Given the description of an element on the screen output the (x, y) to click on. 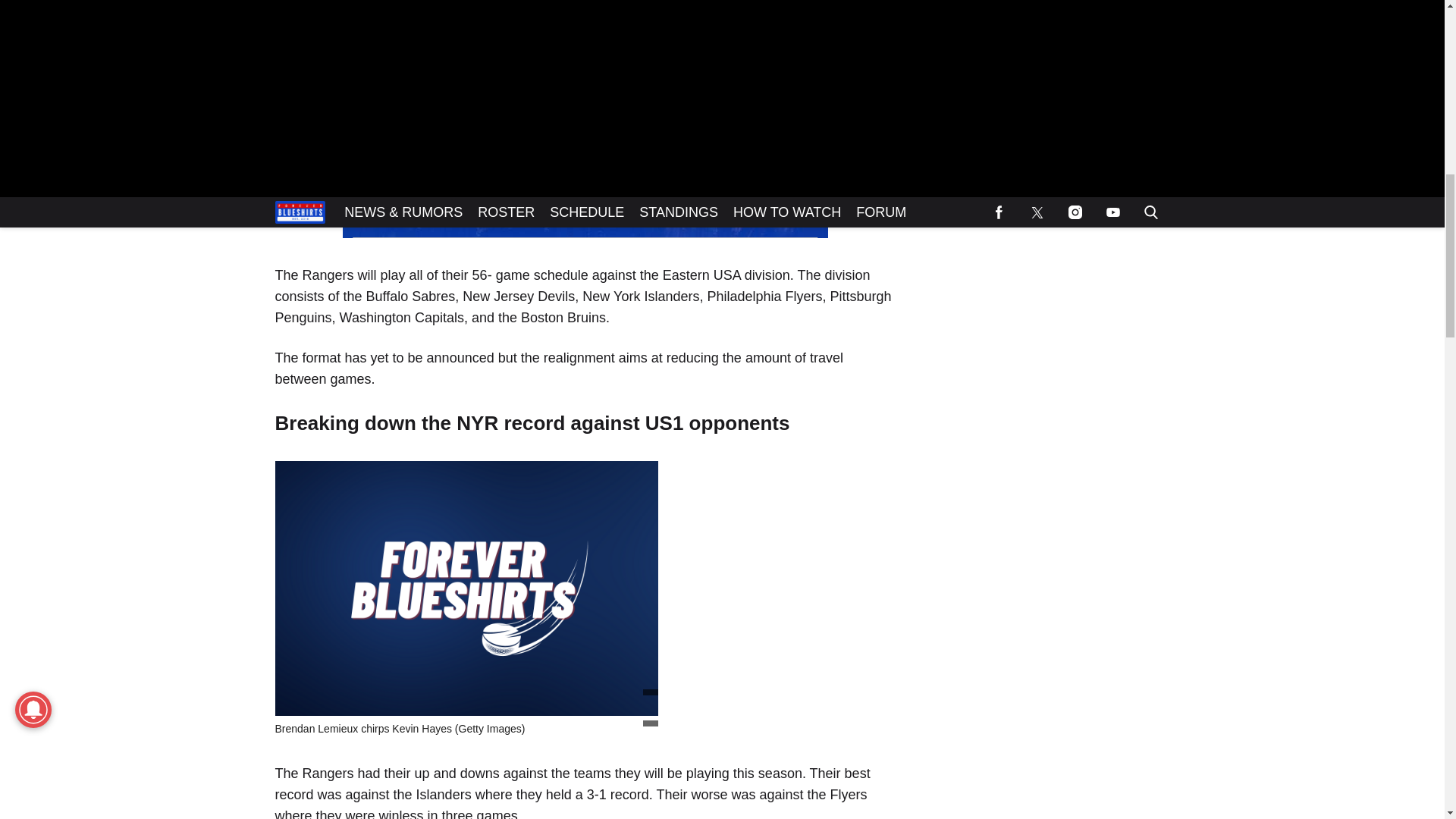
Play Video (584, 101)
Play Video (585, 119)
